Given the description of an element on the screen output the (x, y) to click on. 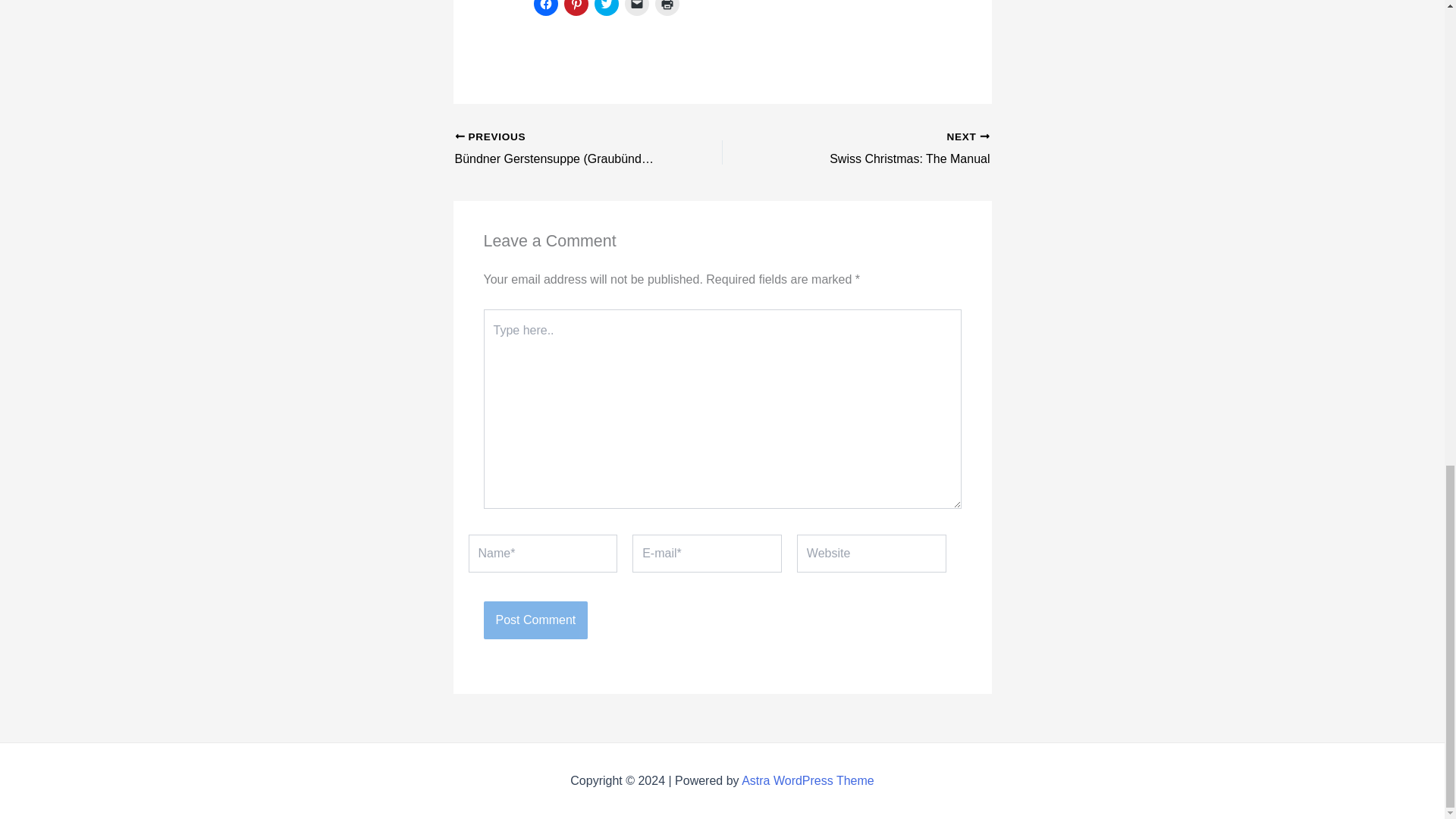
Click to print (667, 7)
Click to email a link to a friend (636, 7)
Post Comment (535, 619)
Click to share on Pinterest (576, 7)
Click to share on Facebook (882, 148)
Click to share on Twitter (545, 7)
Swiss Christmas: The Manual (606, 7)
